Given the description of an element on the screen output the (x, y) to click on. 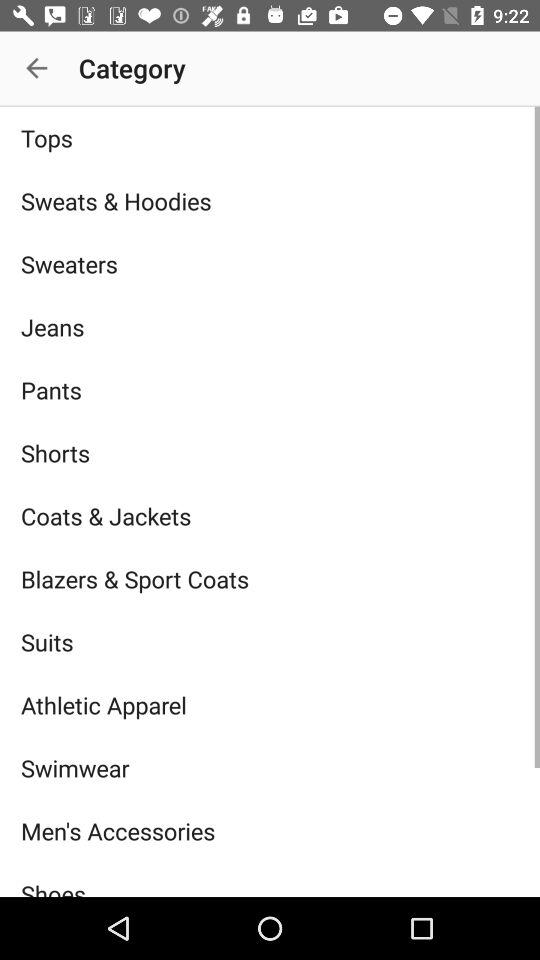
scroll until swimwear (270, 767)
